Given the description of an element on the screen output the (x, y) to click on. 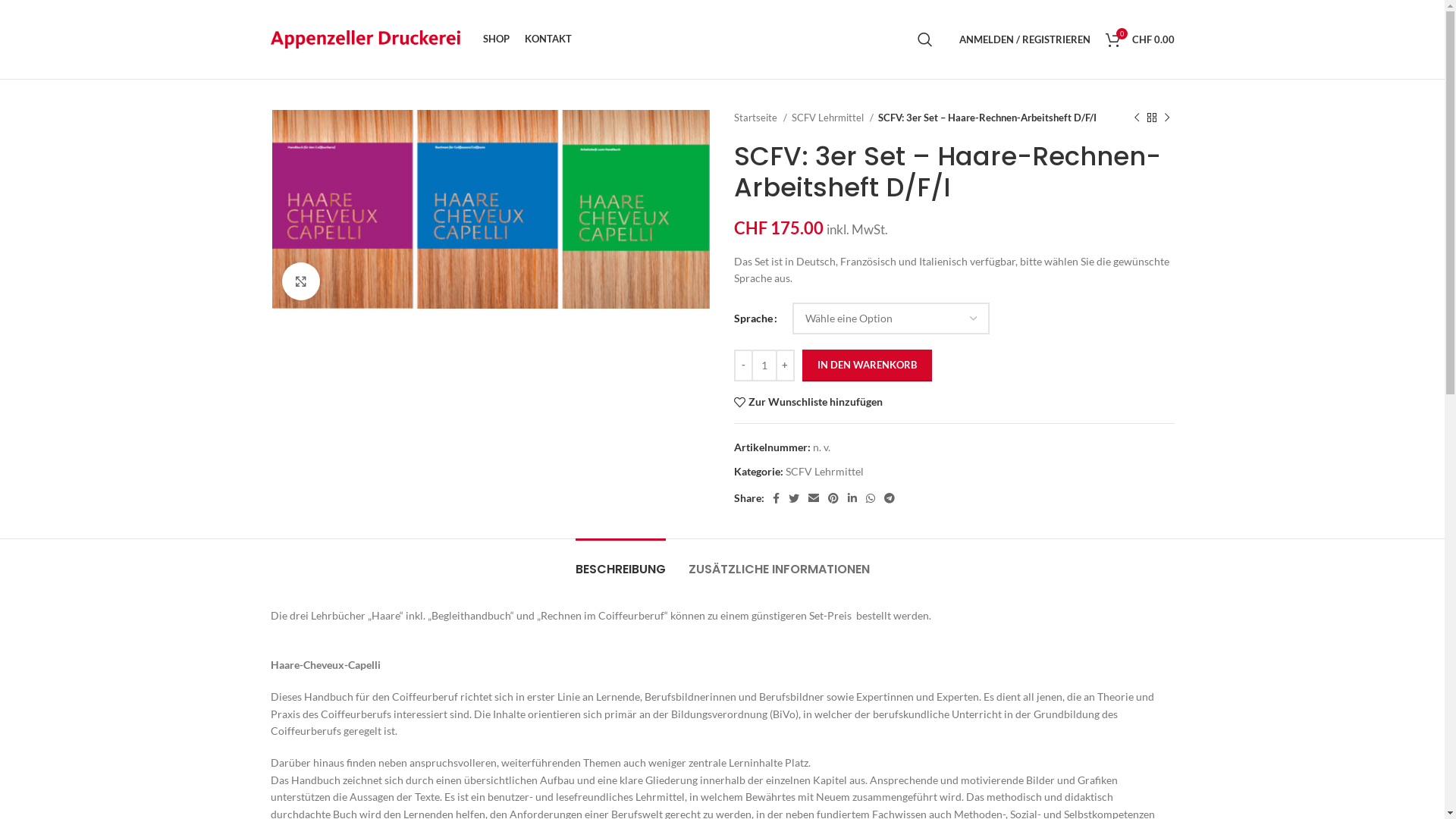
0
CHF 0.00 Element type: text (1140, 39)
SHOP Element type: text (495, 39)
Startseite Element type: text (760, 117)
SCFV Lehrmittel Element type: text (832, 117)
SCFV Lehrmittel Element type: text (824, 470)
LIT0116_3erSet Element type: hover (490, 208)
Search Element type: hover (925, 39)
BESCHREIBUNG Element type: text (619, 561)
Qty Element type: hover (763, 365)
ANMELDEN / REGISTRIEREN Element type: text (1023, 39)
IN DEN WARENKORB Element type: text (866, 365)
KONTAKT Element type: text (547, 39)
